Given the description of an element on the screen output the (x, y) to click on. 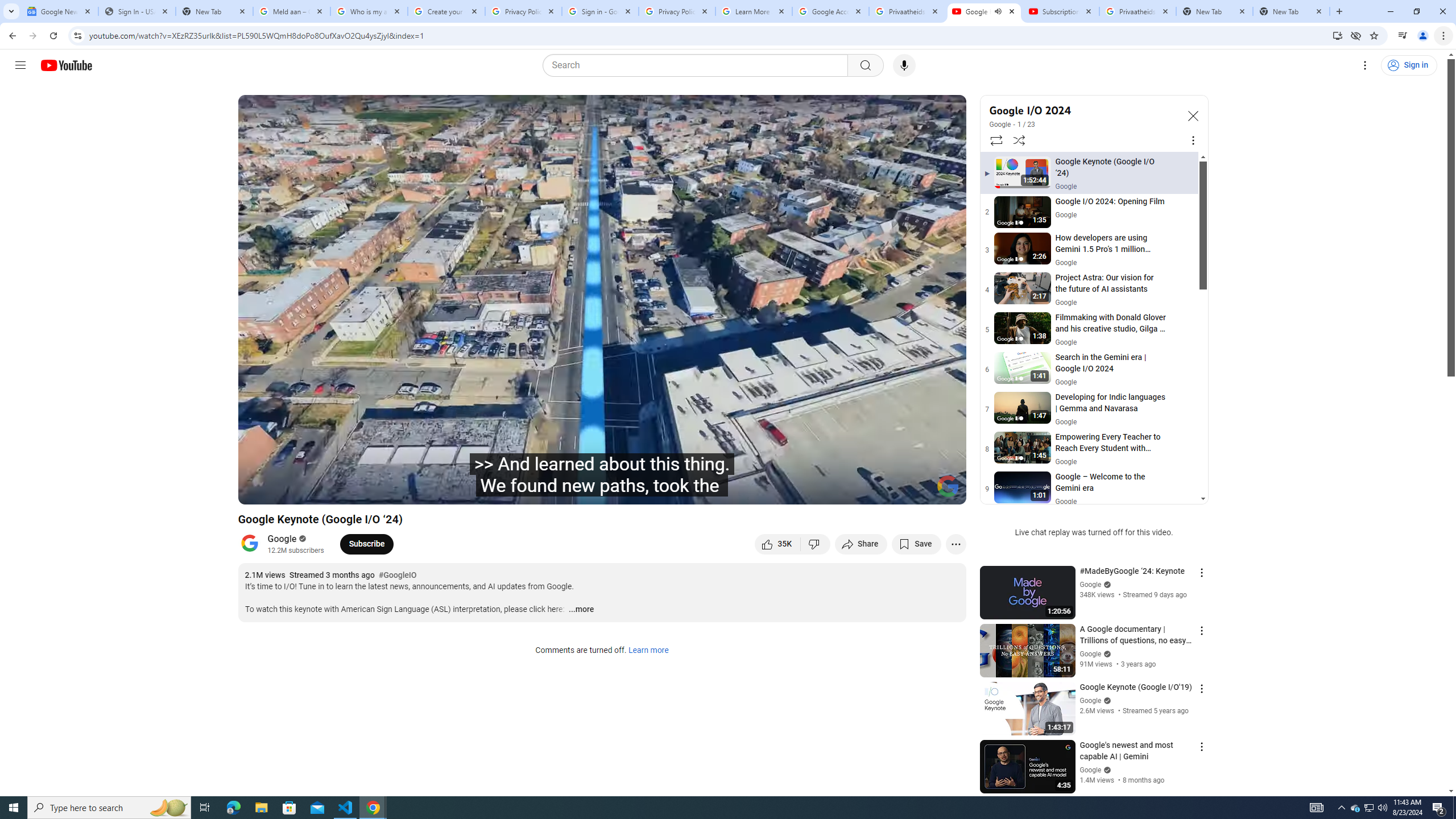
Dislike this video (815, 543)
Share (861, 543)
Full screen (f) (945, 490)
New Tab (1291, 11)
Sign In - USA TODAY (136, 11)
